Given the description of an element on the screen output the (x, y) to click on. 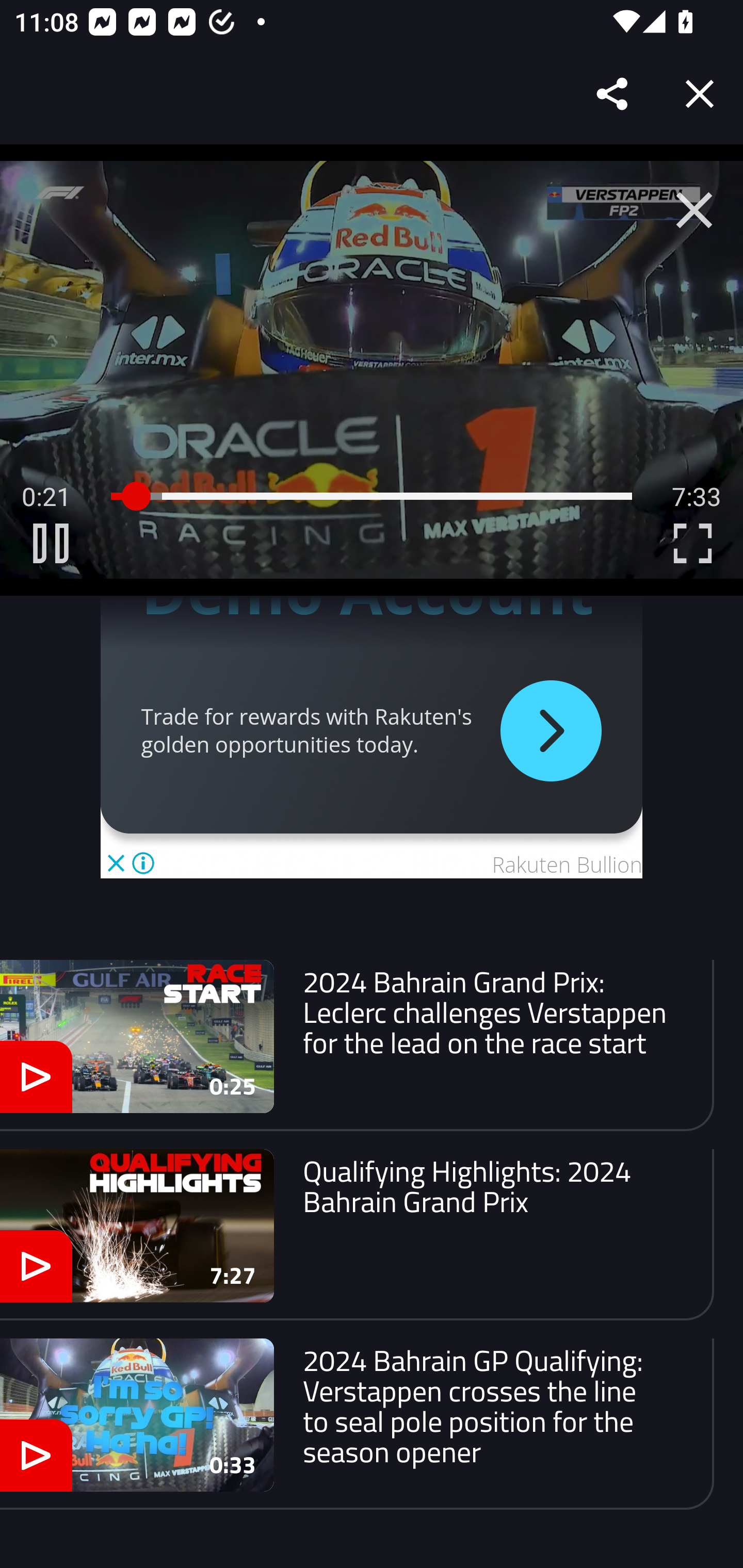
Share (612, 93)
Close (699, 93)
 Close (693, 210)
B Pause (50, 543)
C Enter Fullscreen (692, 543)
Rakuten Bullion (566, 865)
